Given the description of an element on the screen output the (x, y) to click on. 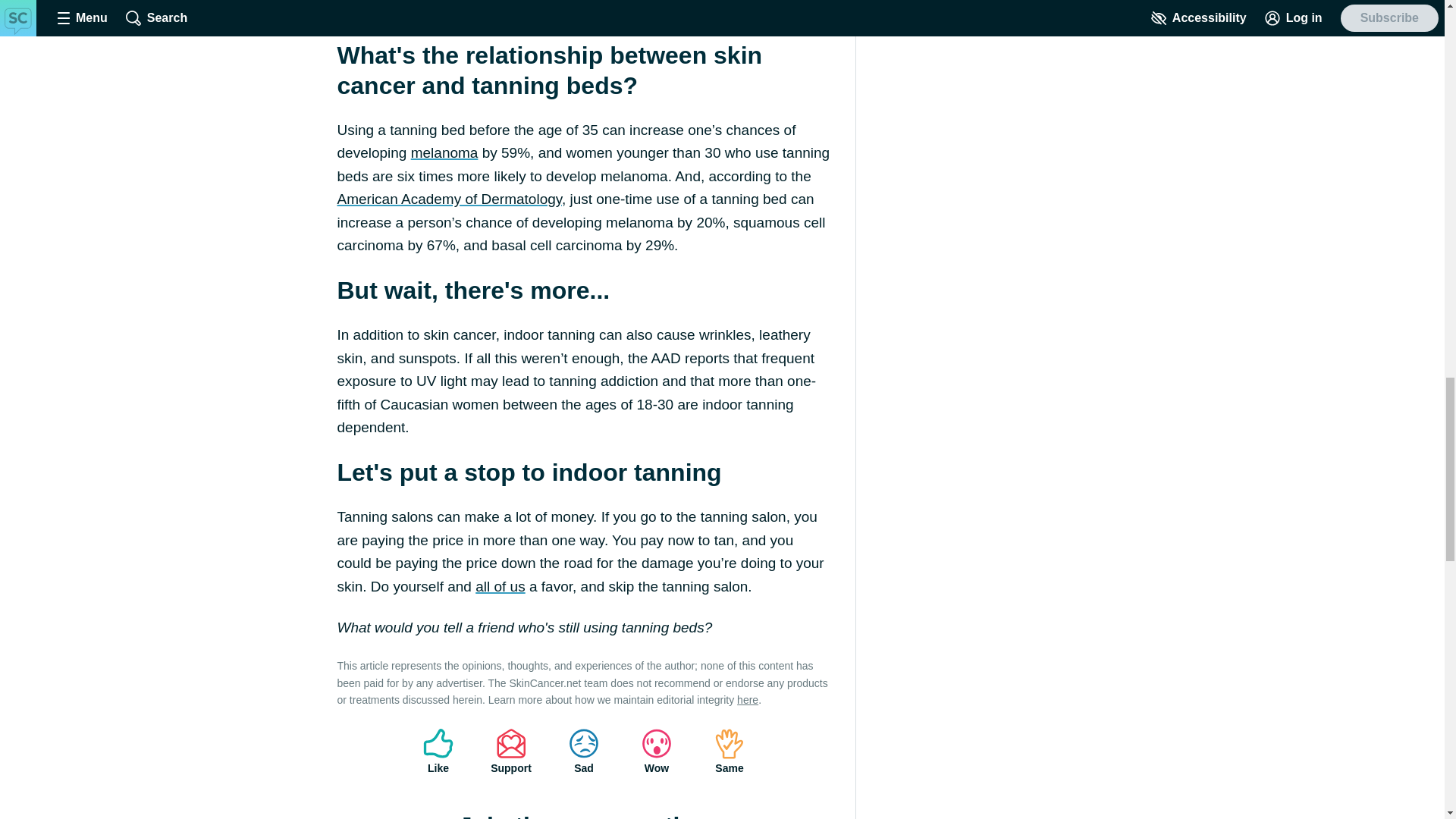
melanoma (444, 152)
Sad (583, 751)
Same (729, 751)
Support (510, 751)
American Academy of Dermatology (448, 198)
here (747, 699)
Wow (656, 751)
all of us (500, 586)
Like (437, 751)
